Given the description of an element on the screen output the (x, y) to click on. 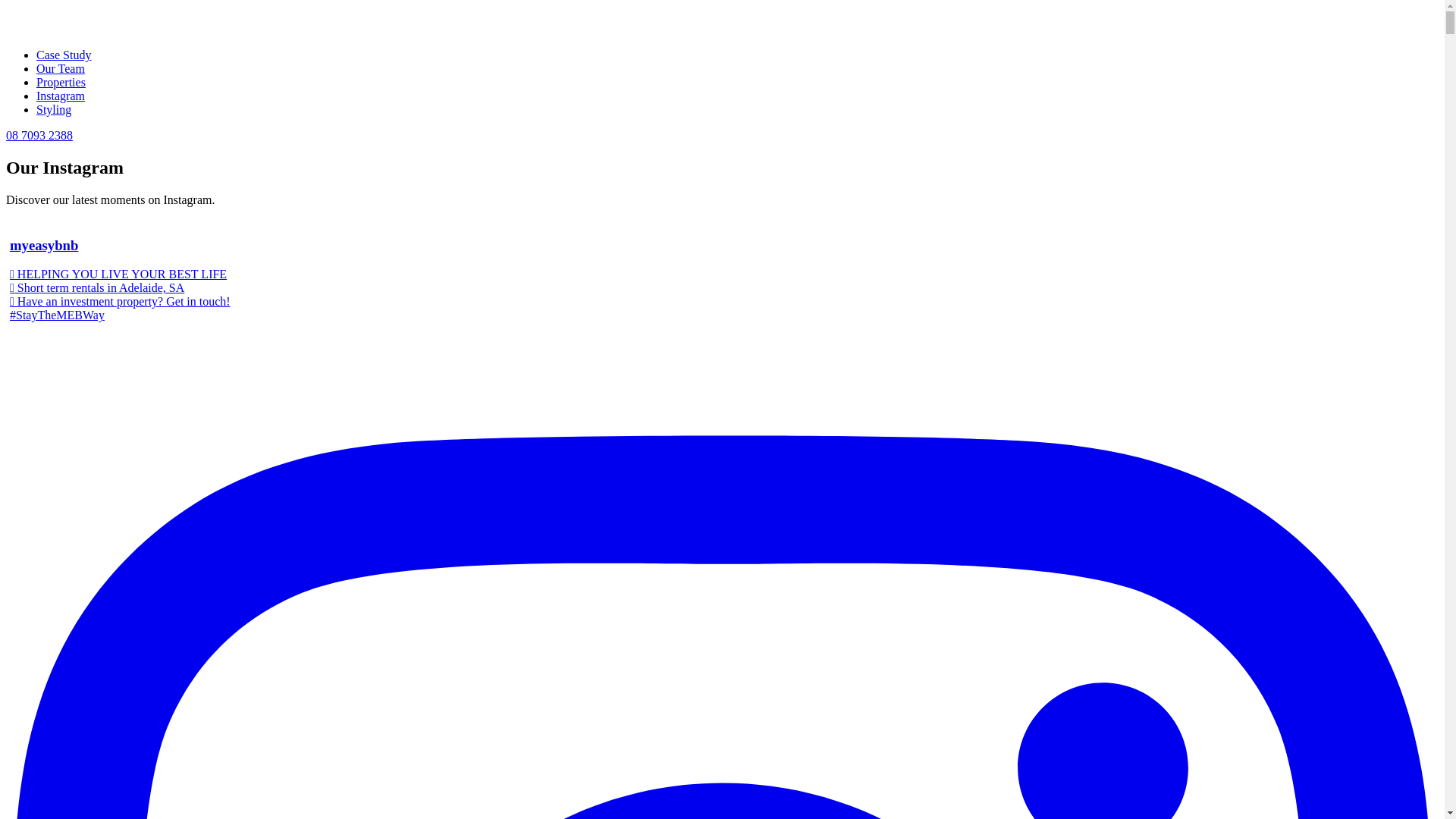
08 7093 2388 Element type: text (39, 134)
Our Team Element type: text (60, 68)
Properties Element type: text (60, 81)
Styling Element type: text (53, 109)
Instagram Element type: text (60, 95)
Case Study Element type: text (63, 54)
